Given the description of an element on the screen output the (x, y) to click on. 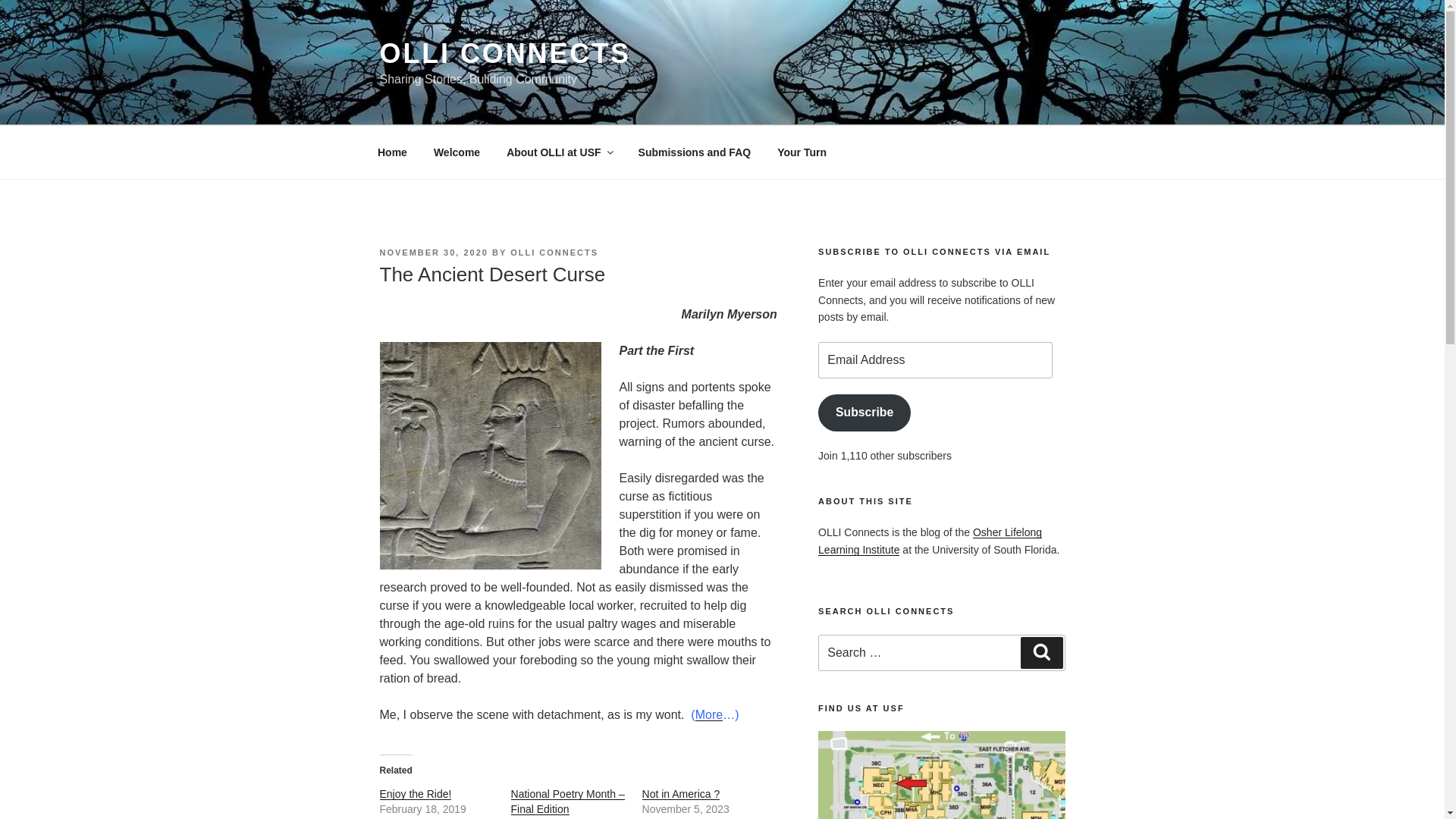
Subscribe (864, 412)
Home (392, 151)
OLLI CONNECTS (554, 252)
Your Turn (802, 151)
Welcome (456, 151)
Osher Lifelong Learning Institute (930, 540)
About OLLI at USF (558, 151)
Not in America ? (681, 793)
OLLI CONNECTS (504, 52)
Enjoy the Ride! (414, 793)
